Given the description of an element on the screen output the (x, y) to click on. 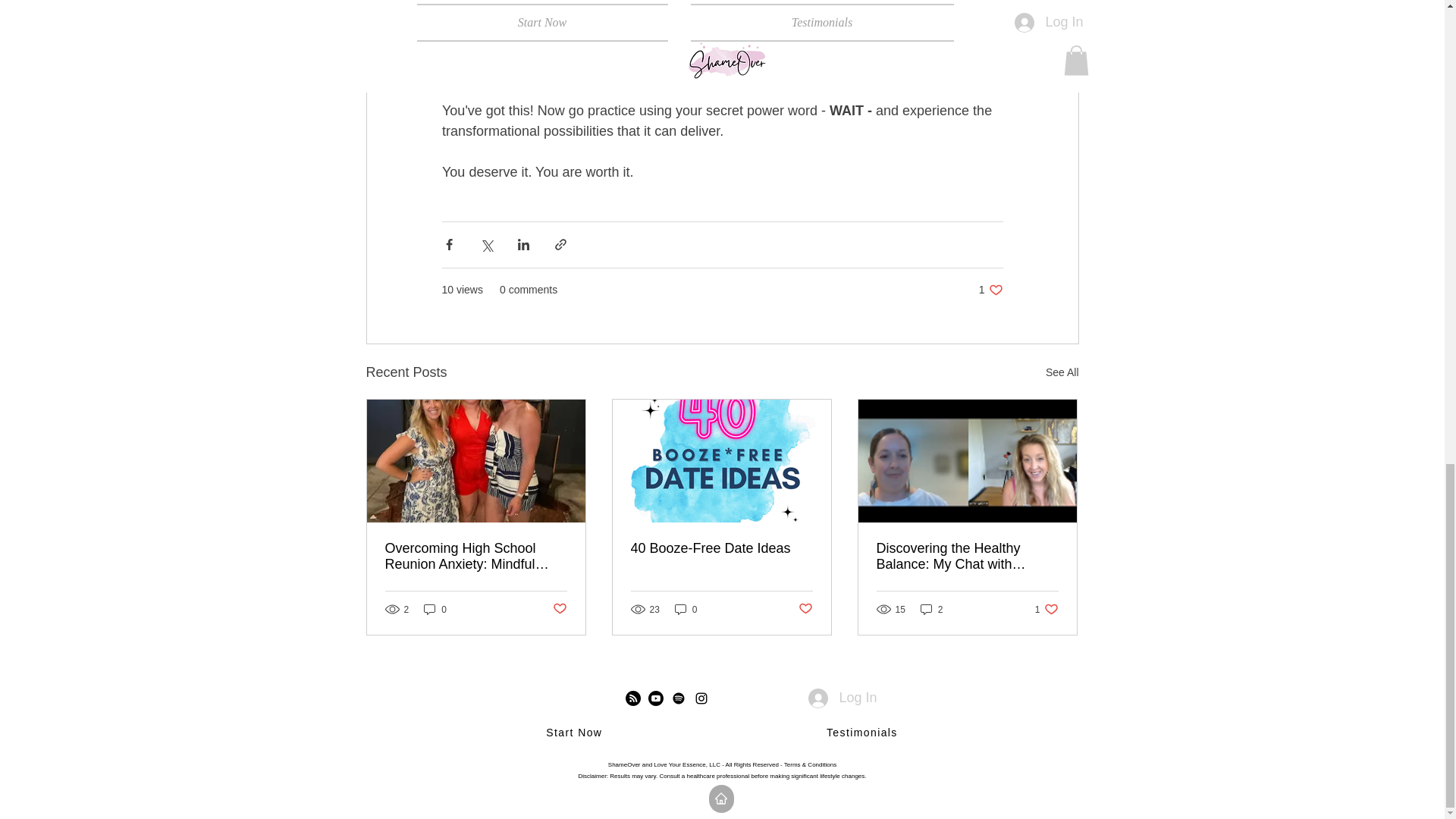
See All (1061, 372)
Post not marked as liked (558, 609)
0 (990, 289)
